Given the description of an element on the screen output the (x, y) to click on. 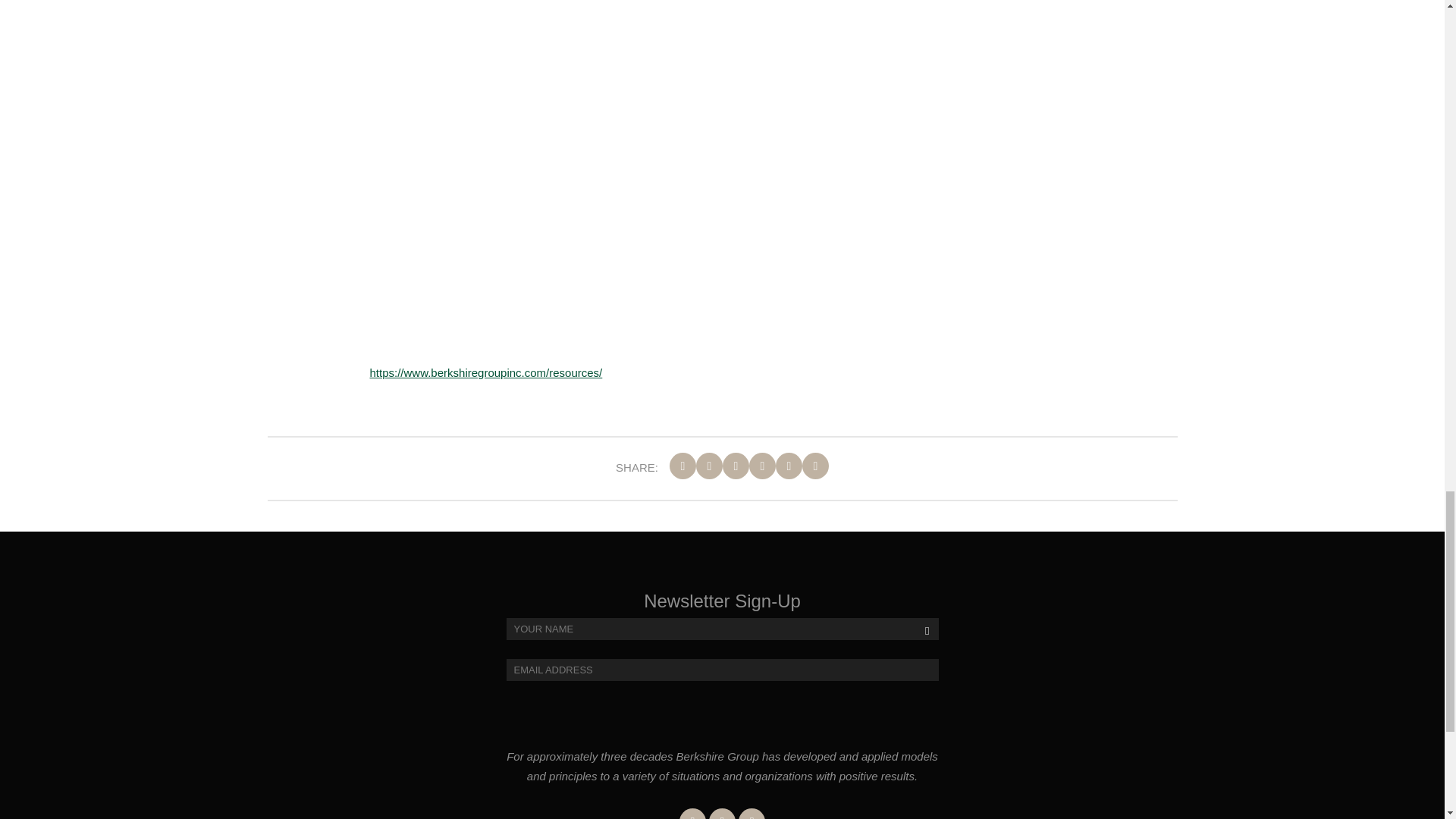
LinkedIn (751, 813)
Twitter (722, 813)
Facebook (692, 813)
Send (920, 661)
Send (920, 661)
